Given the description of an element on the screen output the (x, y) to click on. 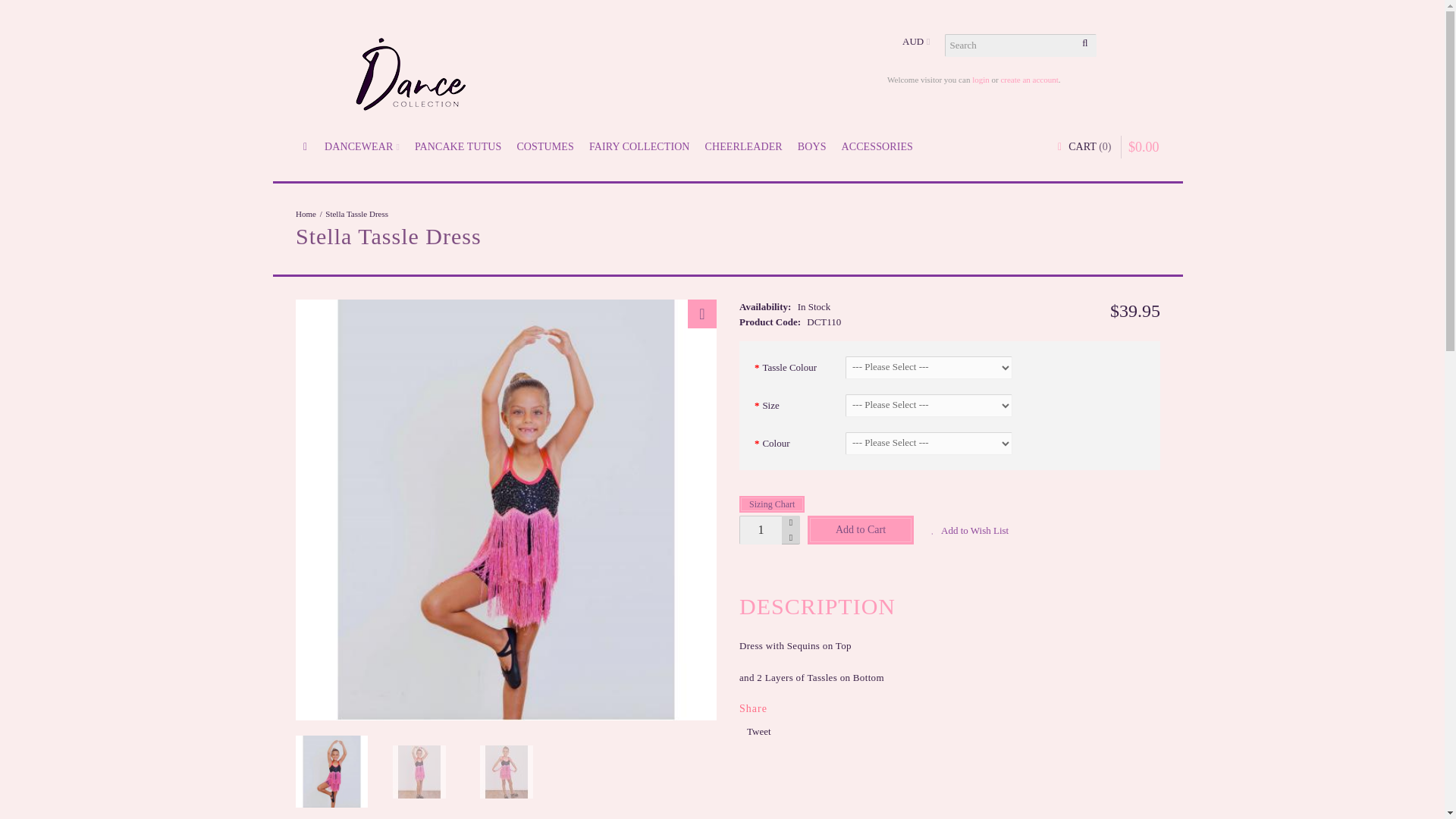
create an account (1029, 79)
FAIRY COLLECTION (638, 146)
DESCRIPTION (817, 606)
PANCAKE TUTUS (458, 146)
Add to Cart (861, 529)
AUD (916, 41)
Add to Wish List (968, 530)
BOYS (812, 146)
1 (760, 529)
DANCEWEAR (362, 146)
Sizing Chart (772, 504)
Australian Dollar (916, 41)
COSTUMES (544, 146)
Search (1085, 45)
Stella Tassle Dress (356, 213)
